Given the description of an element on the screen output the (x, y) to click on. 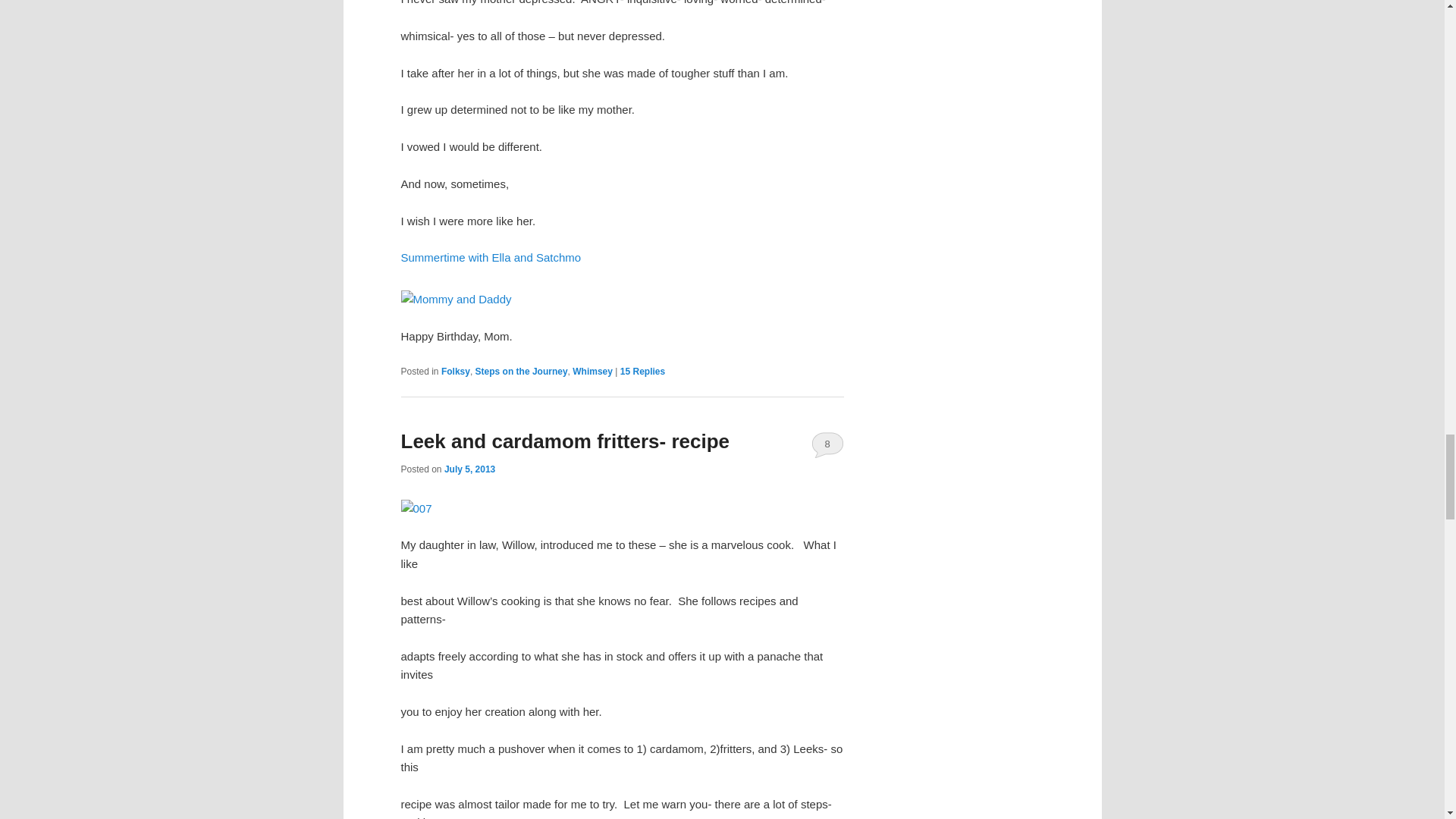
Mommy and Daddy (455, 299)
15 Replies (642, 371)
10:07 PM (469, 469)
8 (827, 443)
007 (415, 508)
Leek and cardamom fritters- recipe (564, 440)
Whimsey (592, 371)
Folksy (455, 371)
Steps on the Journey (521, 371)
July 5, 2013 (469, 469)
